Given the description of an element on the screen output the (x, y) to click on. 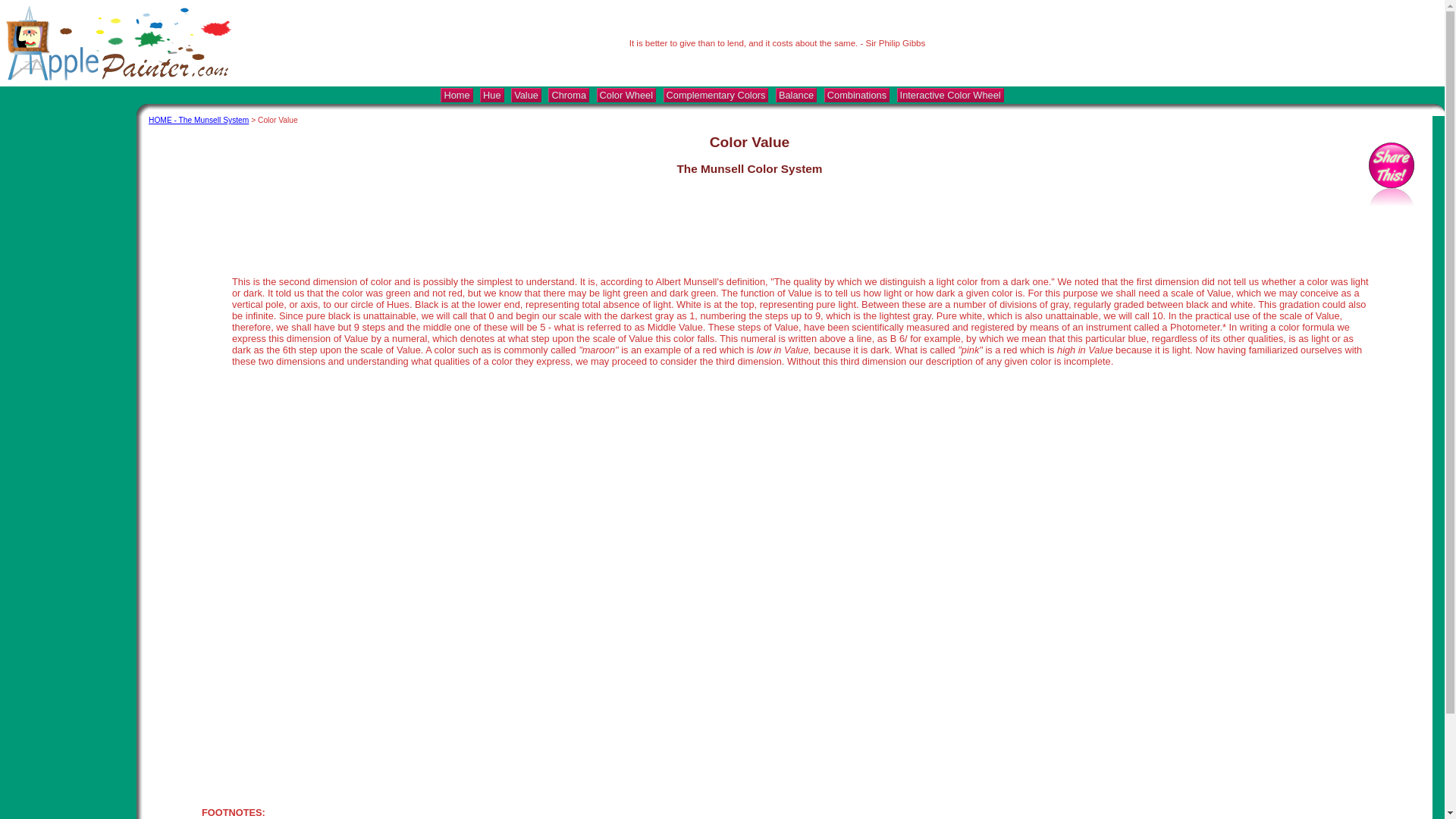
Hue - The Munsell Colour System (491, 94)
Complementary Colors (715, 94)
Home (456, 94)
Color Wheel (626, 94)
Color Balance using the Munsell Color Chart (796, 94)
Combinations (856, 94)
Munsell Chroma (568, 94)
Color Combinations using the Munsell Color Wheel (856, 94)
Balance (796, 94)
The Munsell Color System (456, 94)
Find color combinations (950, 94)
Hue (491, 94)
HOME - The Munsell System (198, 120)
Value (526, 94)
